Given the description of an element on the screen output the (x, y) to click on. 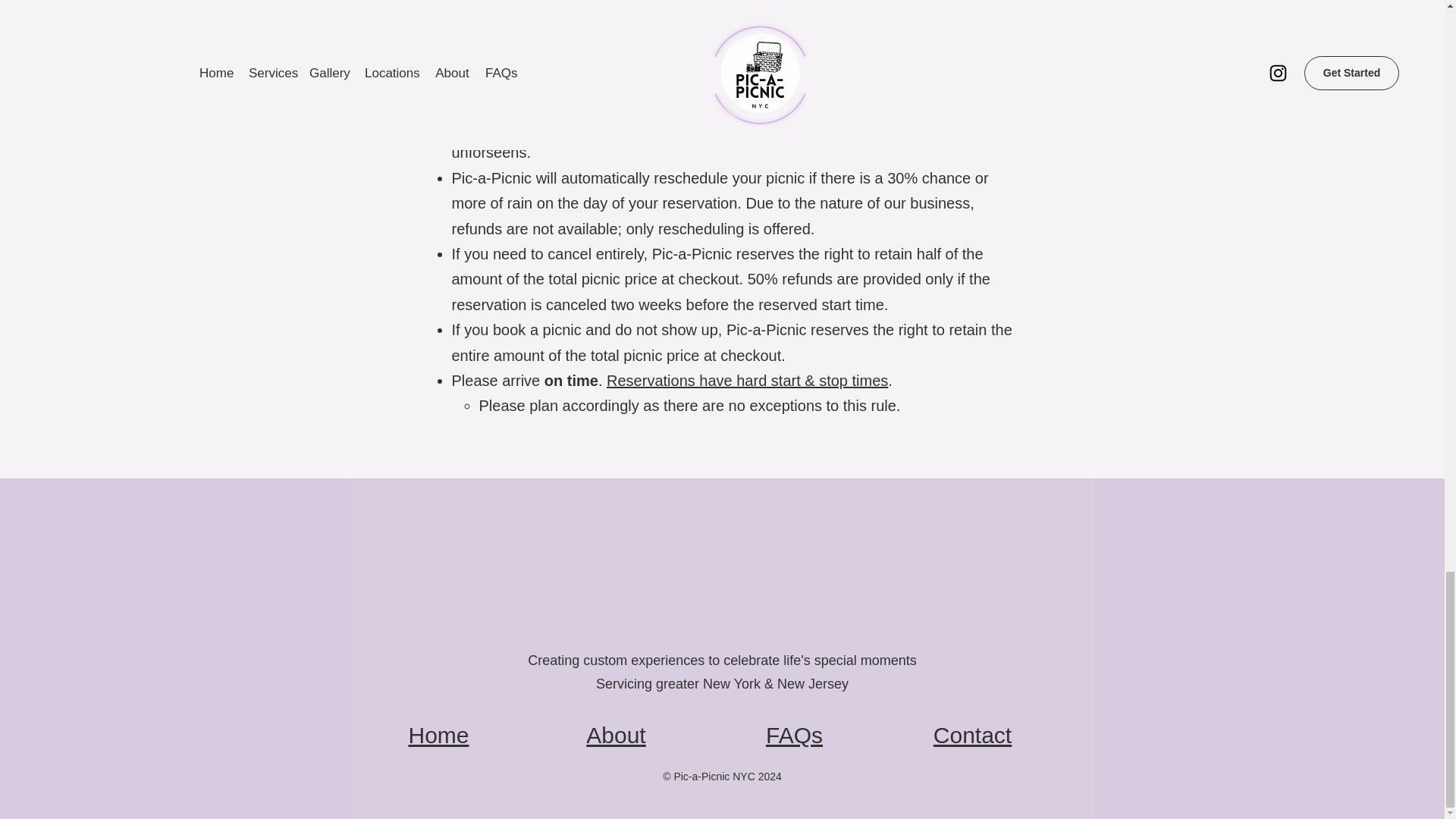
Contact (972, 734)
About (615, 734)
FAQs (793, 734)
Home (437, 734)
